Given the description of an element on the screen output the (x, y) to click on. 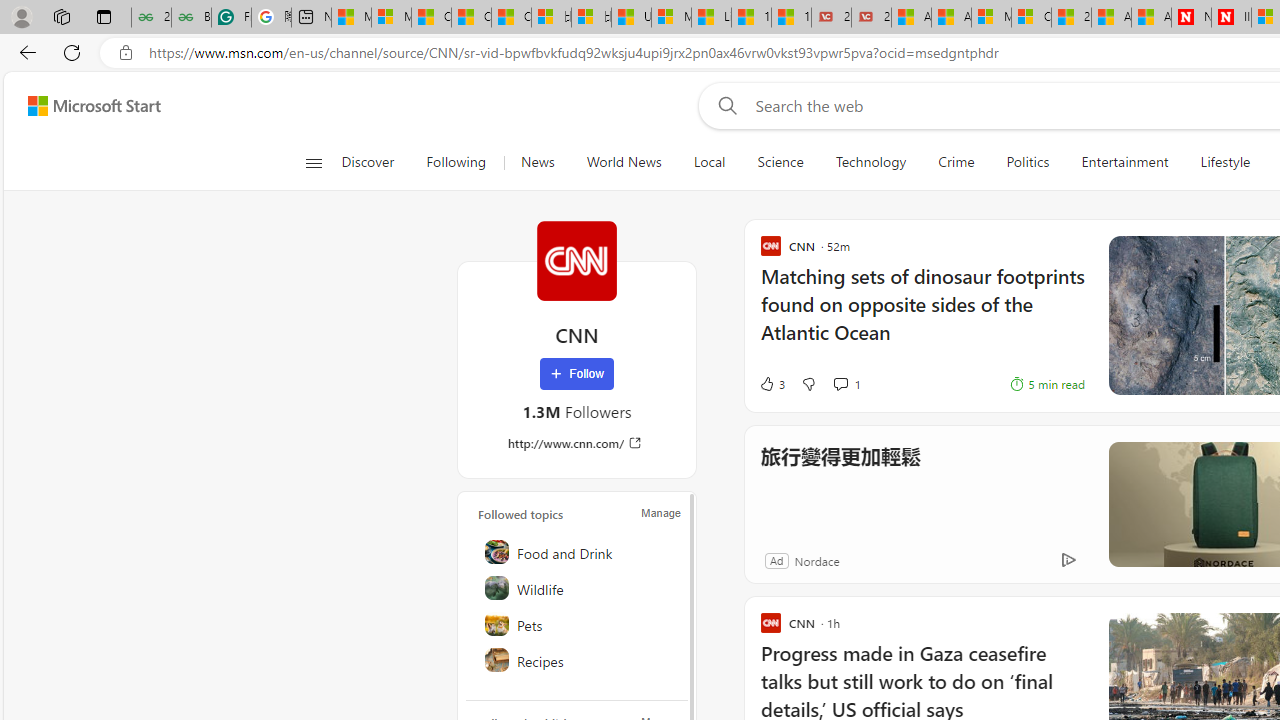
Science (779, 162)
Technology (870, 162)
Manage (660, 512)
Wildlife (578, 587)
20 Ways to Boost Your Protein Intake at Every Meal (1071, 17)
Web search (724, 105)
Follow (577, 373)
3 Like (771, 384)
Open navigation menu (313, 162)
